Given the description of an element on the screen output the (x, y) to click on. 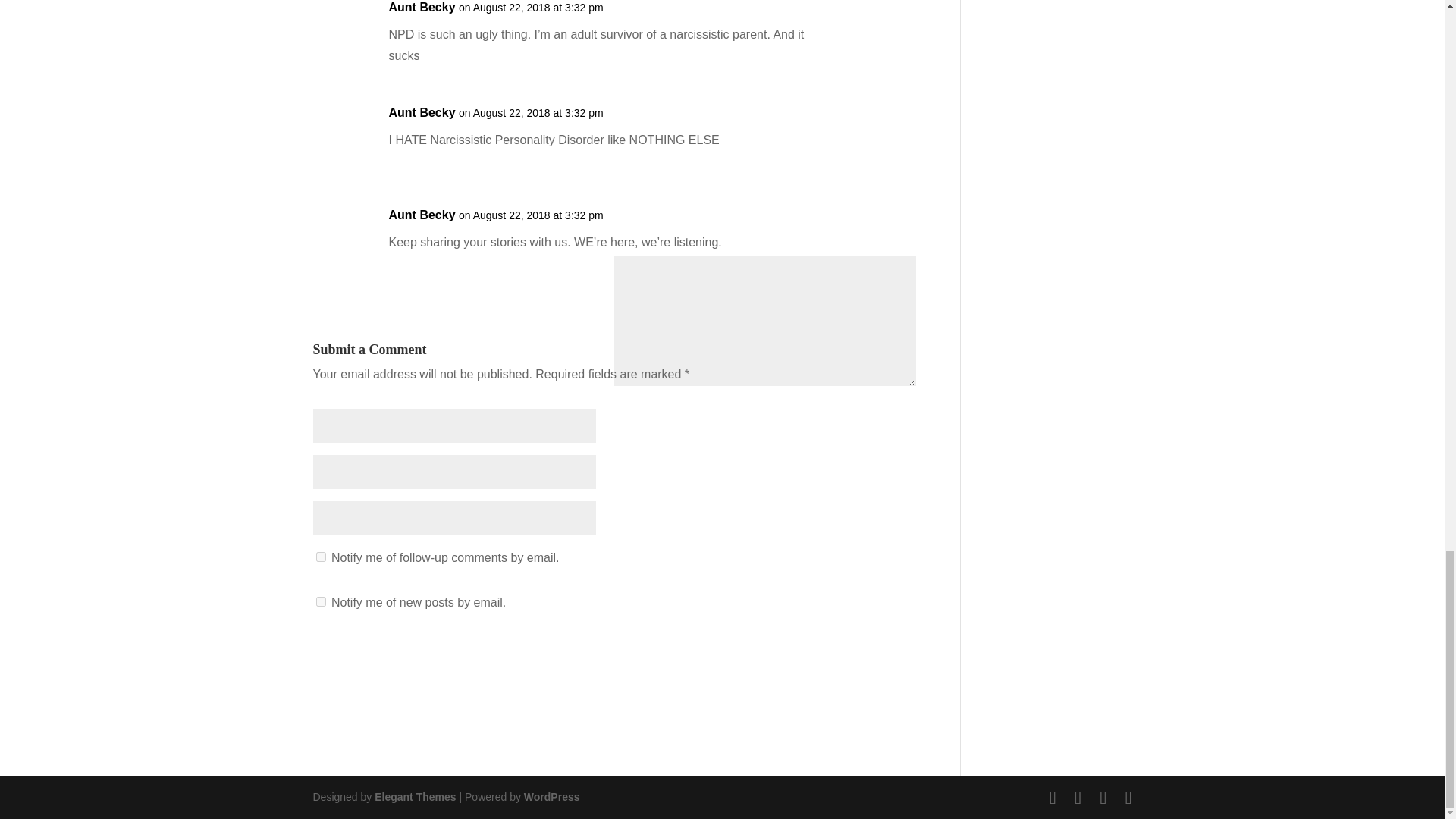
subscribe (319, 601)
Submit Comment (845, 652)
Premium WordPress Themes (414, 797)
subscribe (319, 556)
